Given the description of an element on the screen output the (x, y) to click on. 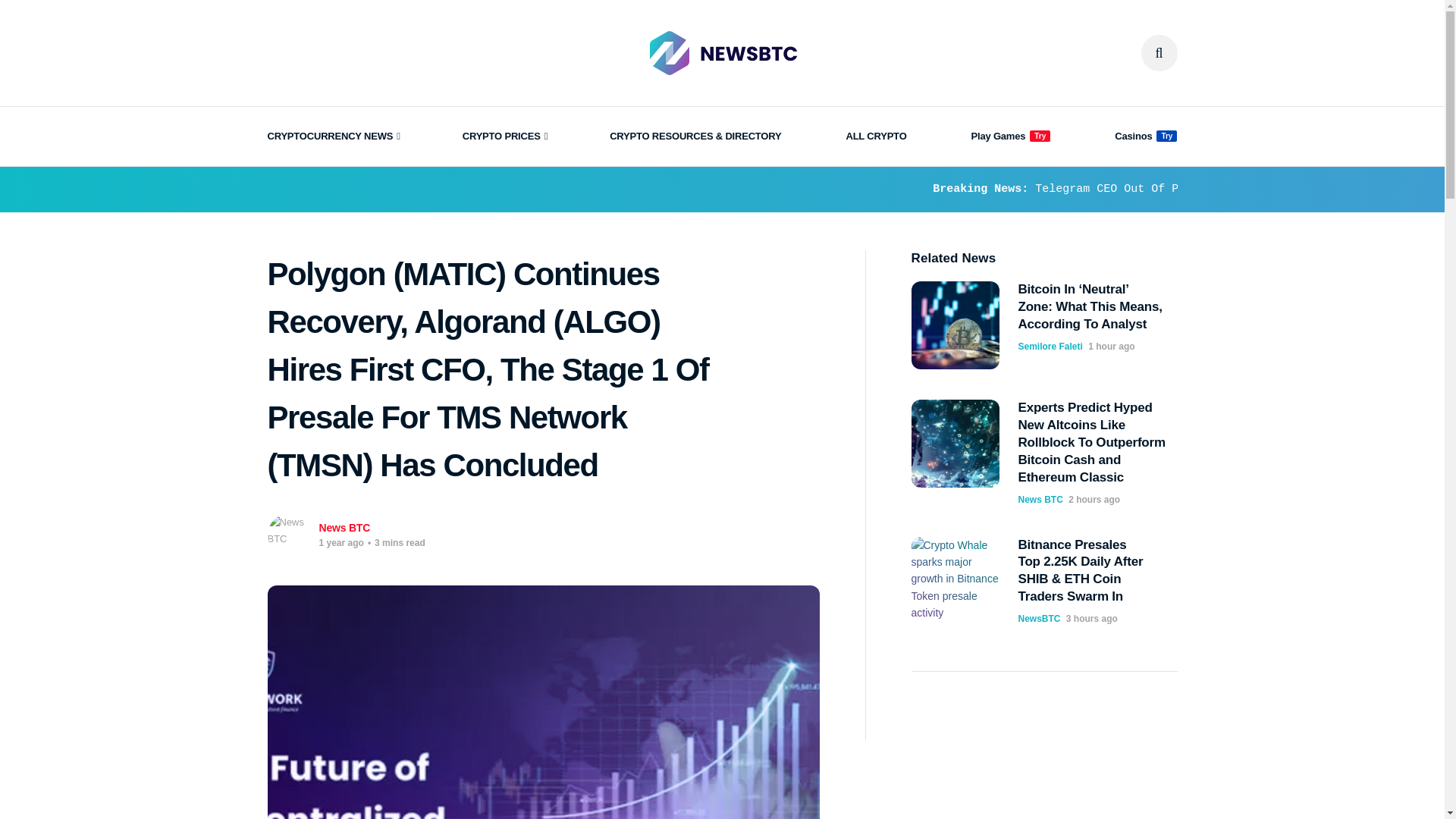
CRYPTO PRICES (503, 136)
ALL CRYPTO (875, 136)
CRYPTOCURRENCY NEWS (331, 136)
